Given the description of an element on the screen output the (x, y) to click on. 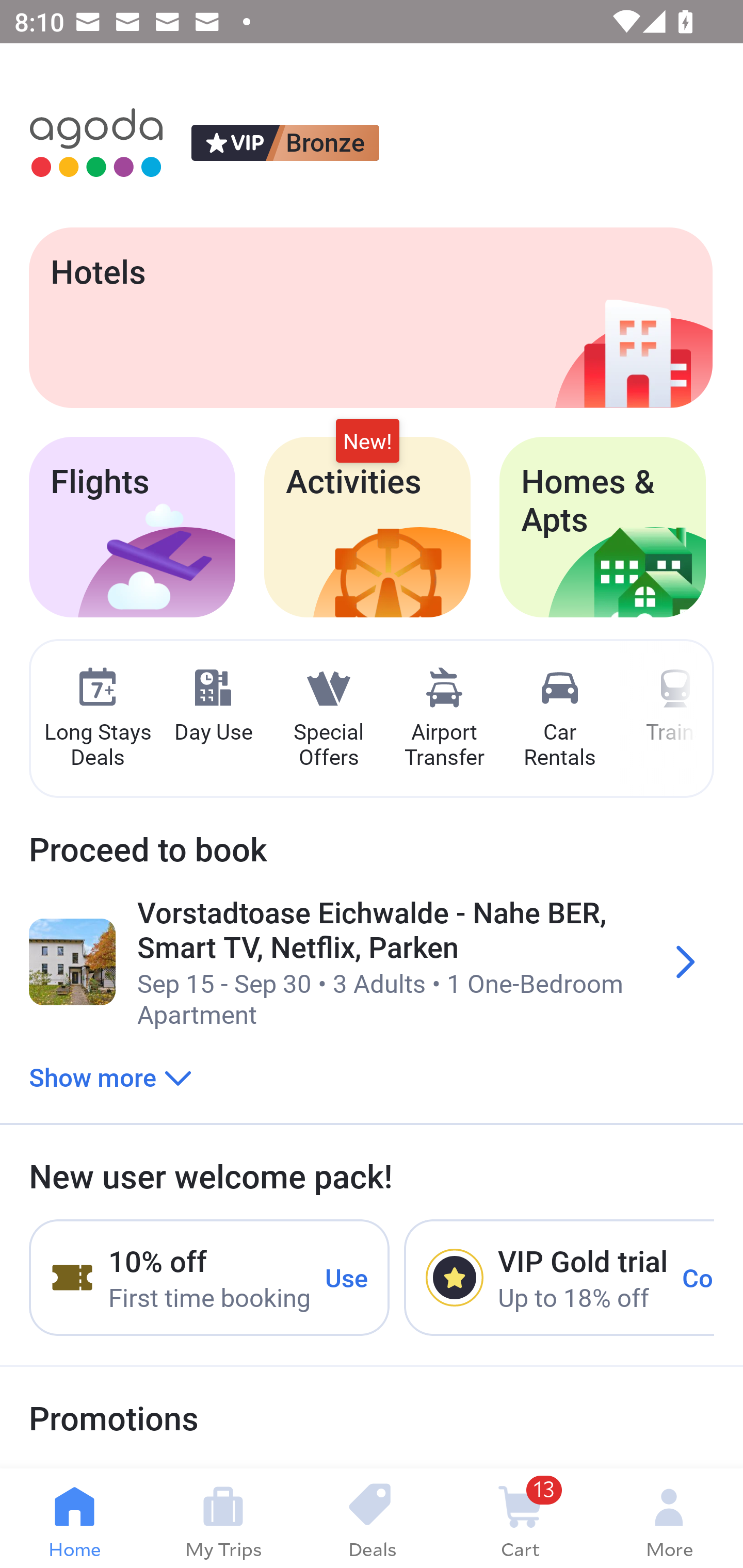
Hotels (370, 317)
New! (367, 441)
Flights (131, 527)
Activities (367, 527)
Homes & Apts (602, 527)
Day Use (213, 706)
Long Stays Deals (97, 718)
Special Offers (328, 718)
Airport Transfer (444, 718)
Car Rentals (559, 718)
Show more (110, 1076)
Use (346, 1277)
Home (74, 1518)
My Trips (222, 1518)
Deals (371, 1518)
13 Cart (519, 1518)
More (668, 1518)
